Given the description of an element on the screen output the (x, y) to click on. 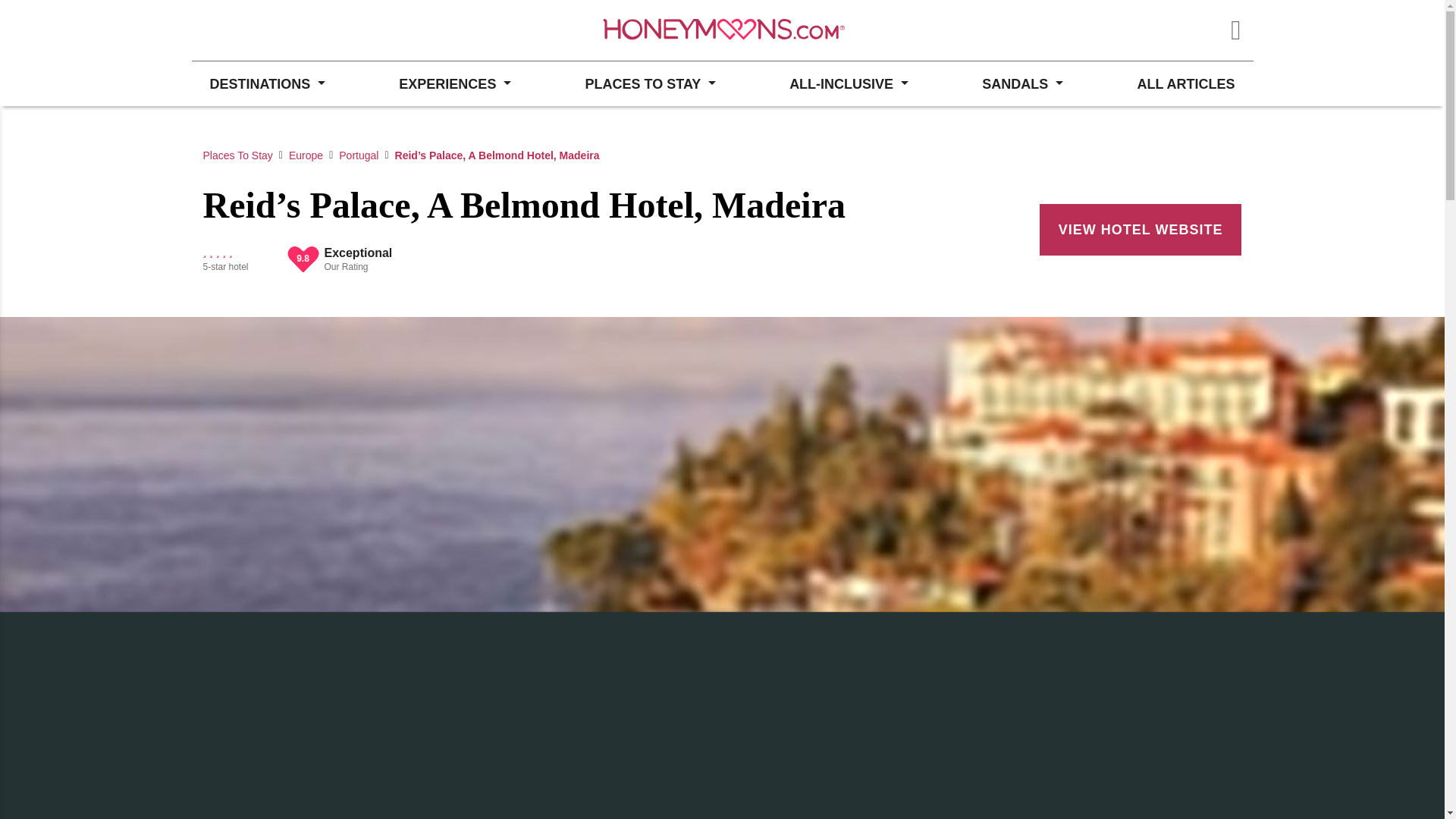
Connect With A Travel Advisor (273, 30)
EXPERIENCES (454, 84)
DESTINATIONS (266, 84)
